Given the description of an element on the screen output the (x, y) to click on. 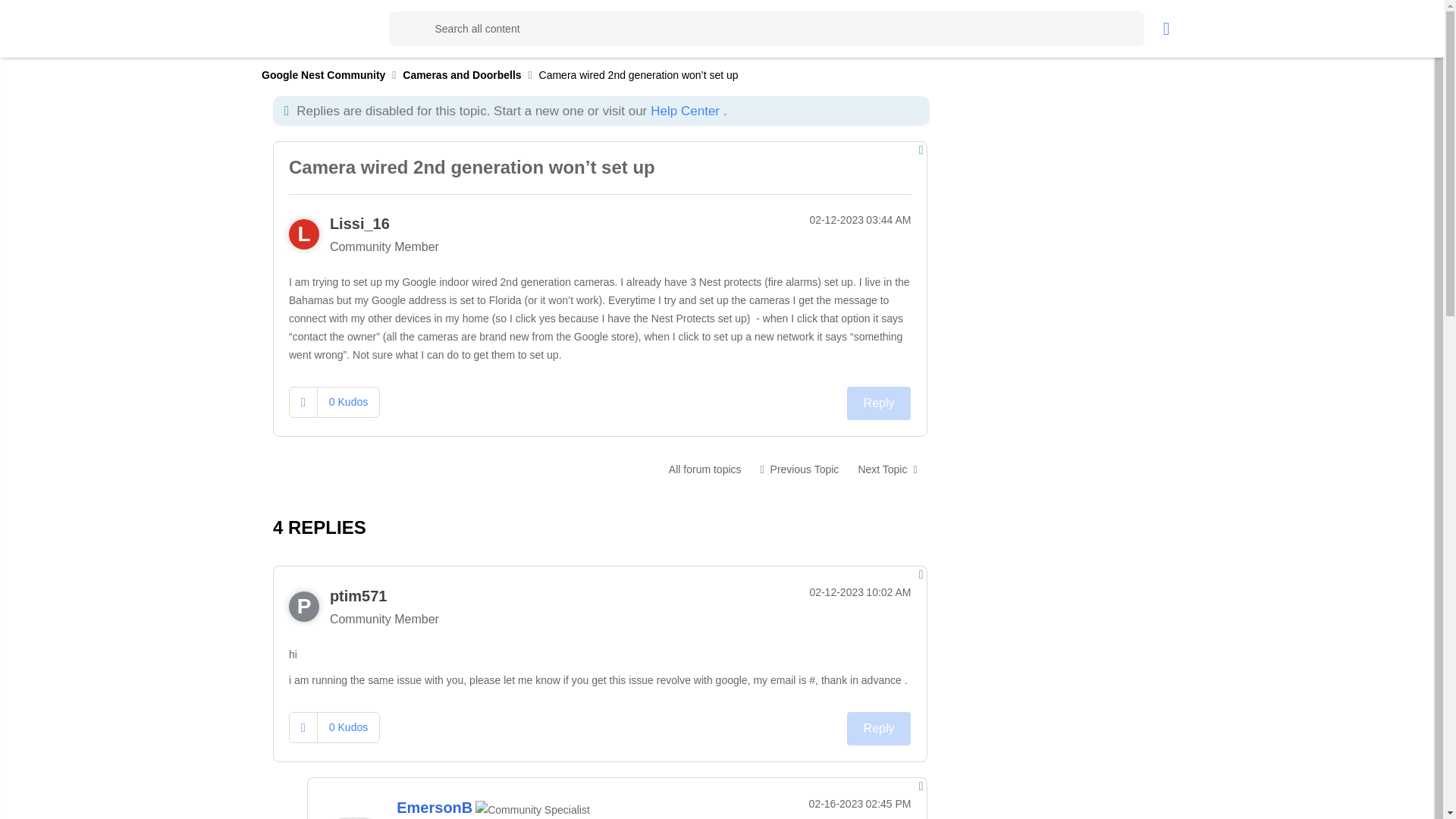
Search (405, 29)
2 Nest Doorbells with Wired Honeywell Home S9 (886, 469)
Cameras and Doorbells (705, 469)
Cameras and Doorbells (462, 74)
ptim571 (358, 596)
Community Specialist (532, 809)
The total number of kudos this post has received. (347, 401)
Search (765, 28)
Next Topic (886, 469)
Search (405, 29)
